Given the description of an element on the screen output the (x, y) to click on. 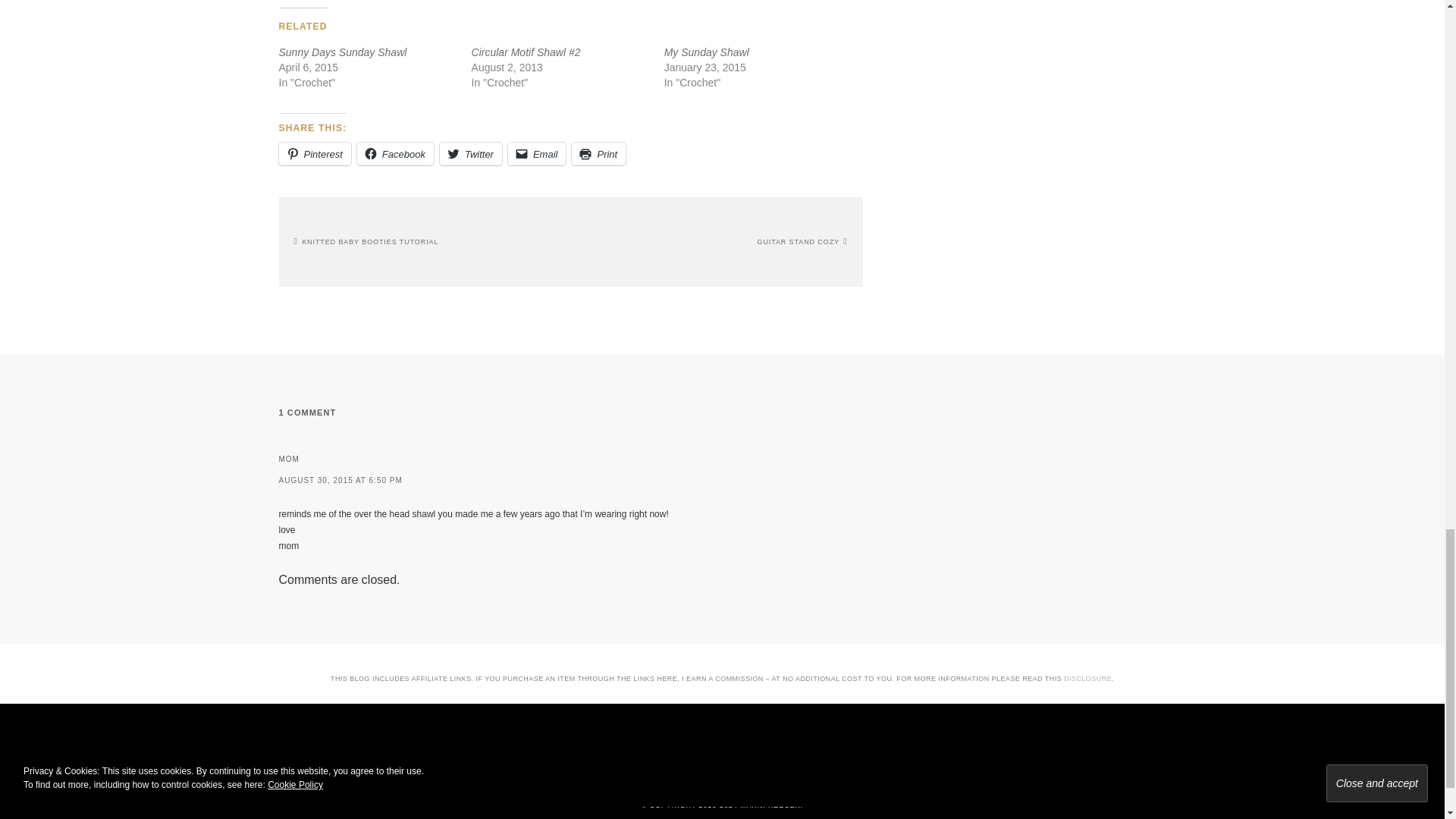
Sunny Days Sunday Shawl (343, 51)
Sunny Days Sunday Shawl (343, 51)
Click to share on Pinterest (314, 153)
KNITTED BABY BOOTIES TUTORIAL (366, 241)
GUITAR STAND COZY (802, 241)
Email (537, 153)
My Sunday Shawl (706, 51)
My Sunday Shawl (706, 51)
Twitter (470, 153)
Facebook (394, 153)
Pinterest (314, 153)
Print (599, 153)
